Given the description of an element on the screen output the (x, y) to click on. 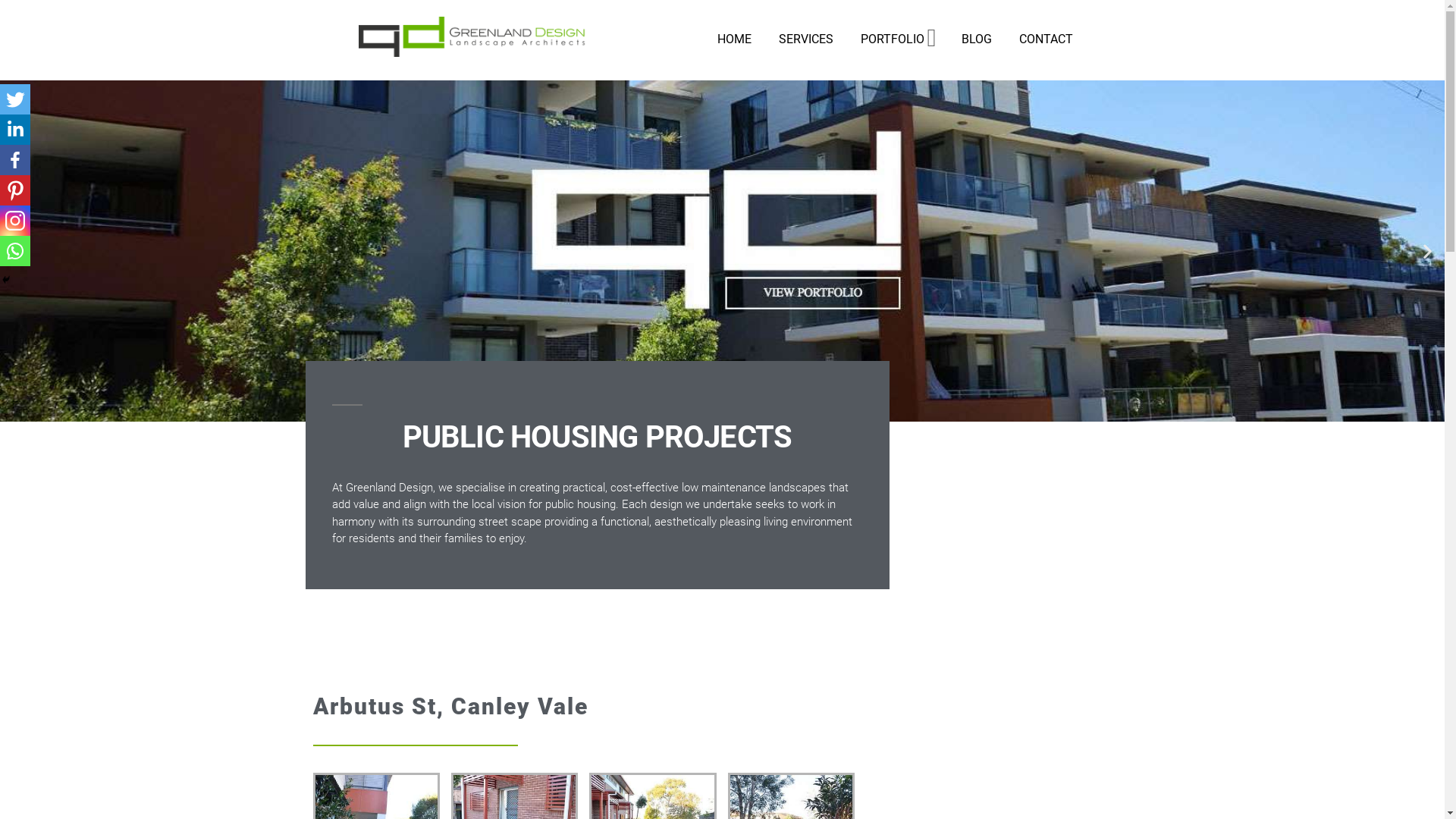
Instagram Element type: hover (15, 220)
CONTACT Element type: text (1045, 39)
Facebook Element type: hover (15, 159)
SERVICES Element type: text (806, 39)
PORTFOLIO Element type: text (892, 39)
Pinterest Element type: hover (15, 190)
Hide Element type: hover (6, 279)
BLOG Element type: text (976, 39)
Twitter Element type: hover (15, 99)
HOME Element type: text (734, 39)
Linkedin Element type: hover (15, 129)
Whatsapp Element type: hover (15, 250)
